Given the description of an element on the screen output the (x, y) to click on. 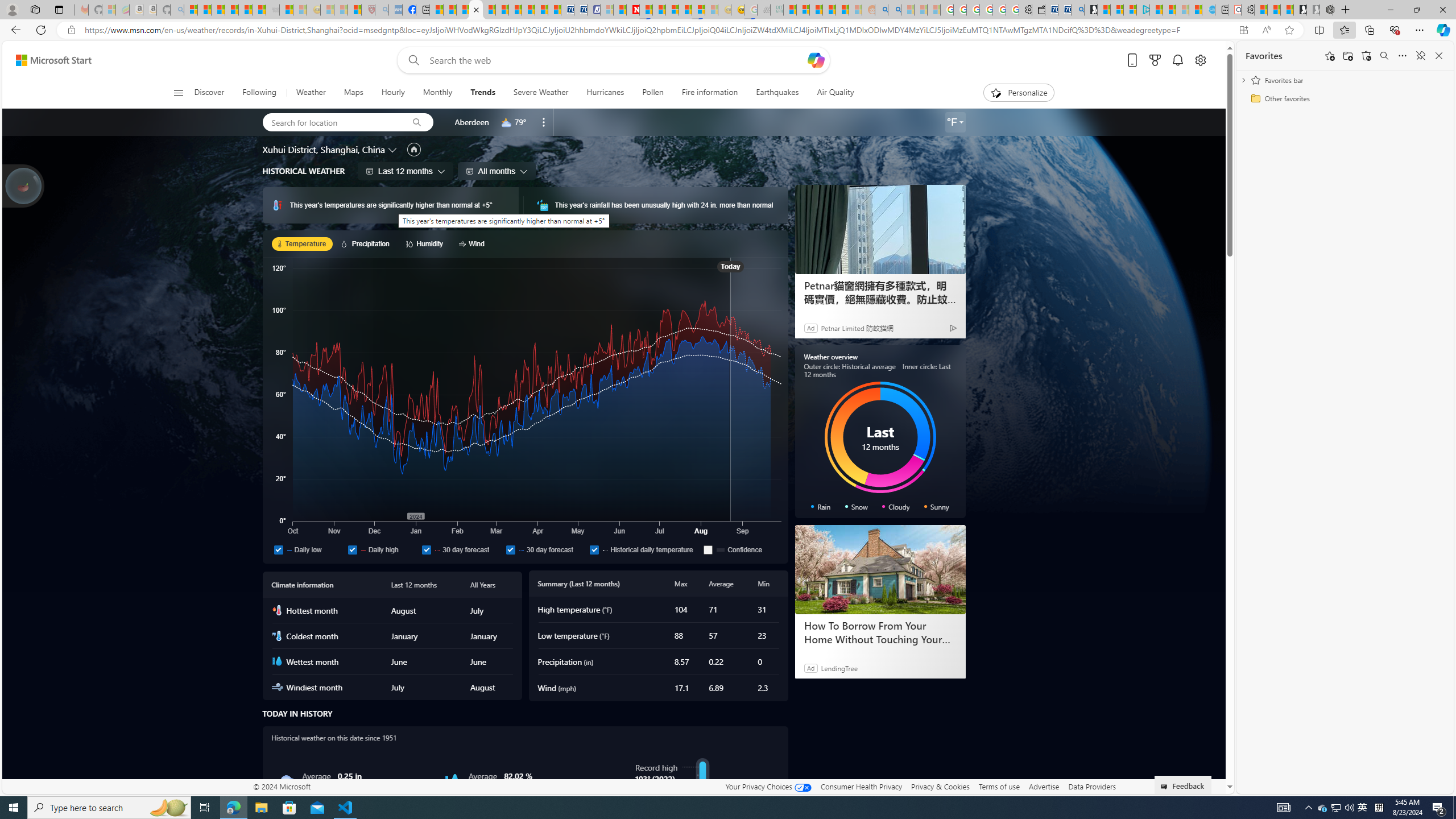
Confidence (740, 549)
Maps (353, 92)
Set as primary location (413, 149)
Trends (482, 92)
Humidity (426, 243)
Earthquakes (777, 92)
Humidity (451, 781)
